Given the description of an element on the screen output the (x, y) to click on. 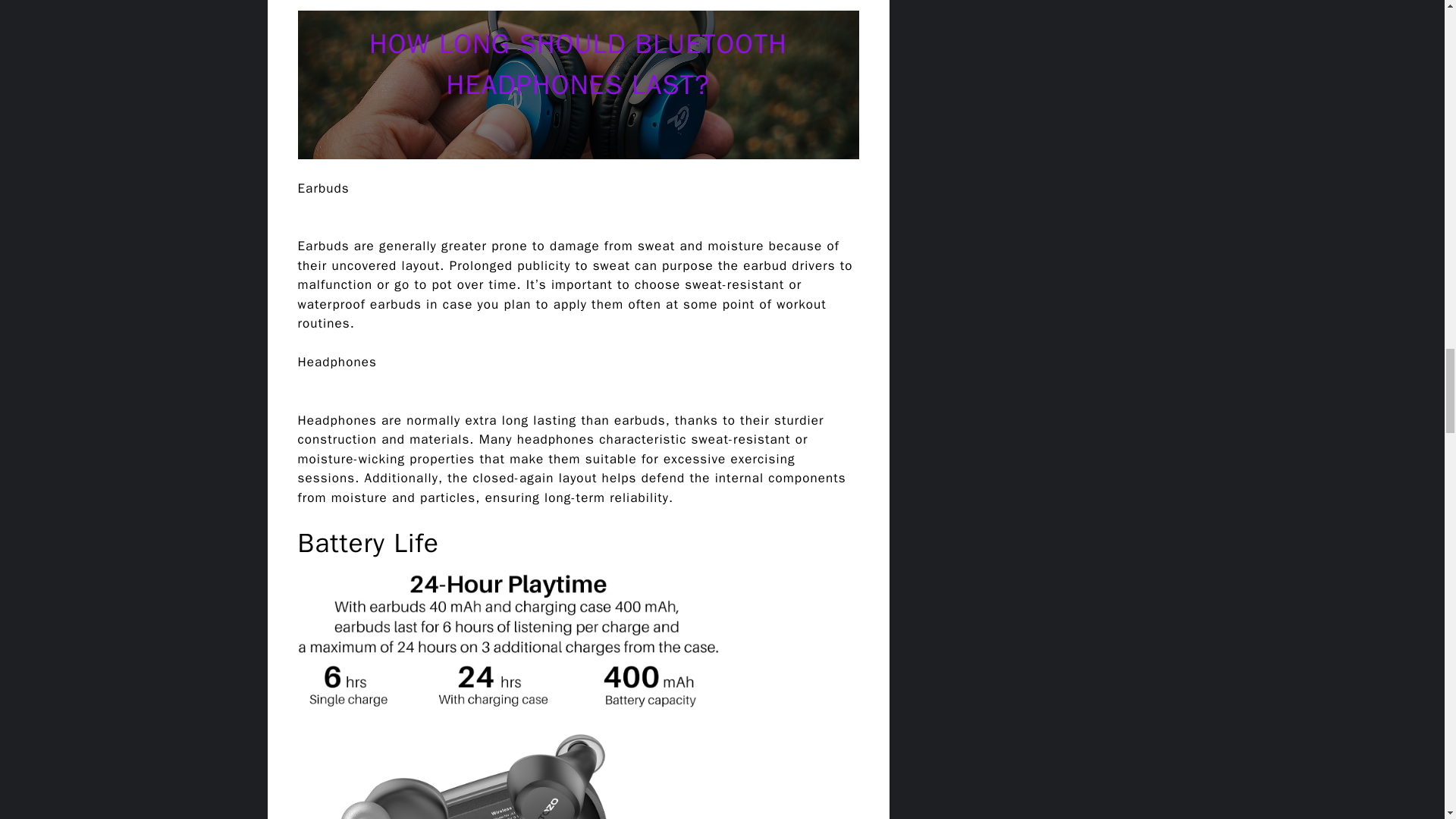
HOW LONG SHOULD BLUETOOTH HEADPHONES LAST? (578, 64)
